Given the description of an element on the screen output the (x, y) to click on. 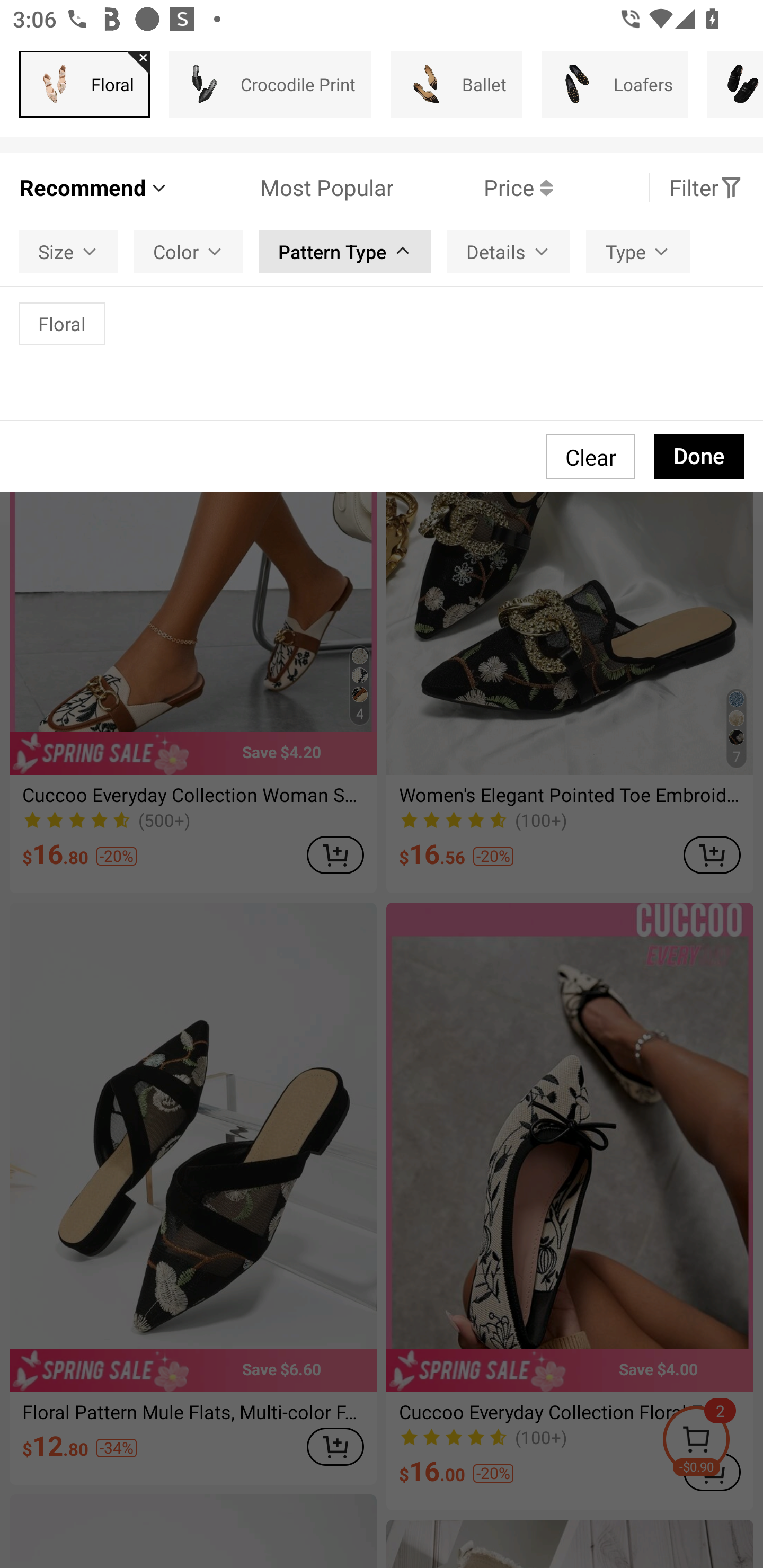
Floral (84, 83)
Crocodile Print (270, 83)
Ballet (456, 83)
Loafers (614, 83)
Recommend (94, 187)
Most Popular (280, 187)
Price (472, 187)
Filter (705, 187)
Size (68, 251)
Color (188, 251)
Pattern Type (345, 251)
Details (508, 251)
Type (637, 251)
